Given the description of an element on the screen output the (x, y) to click on. 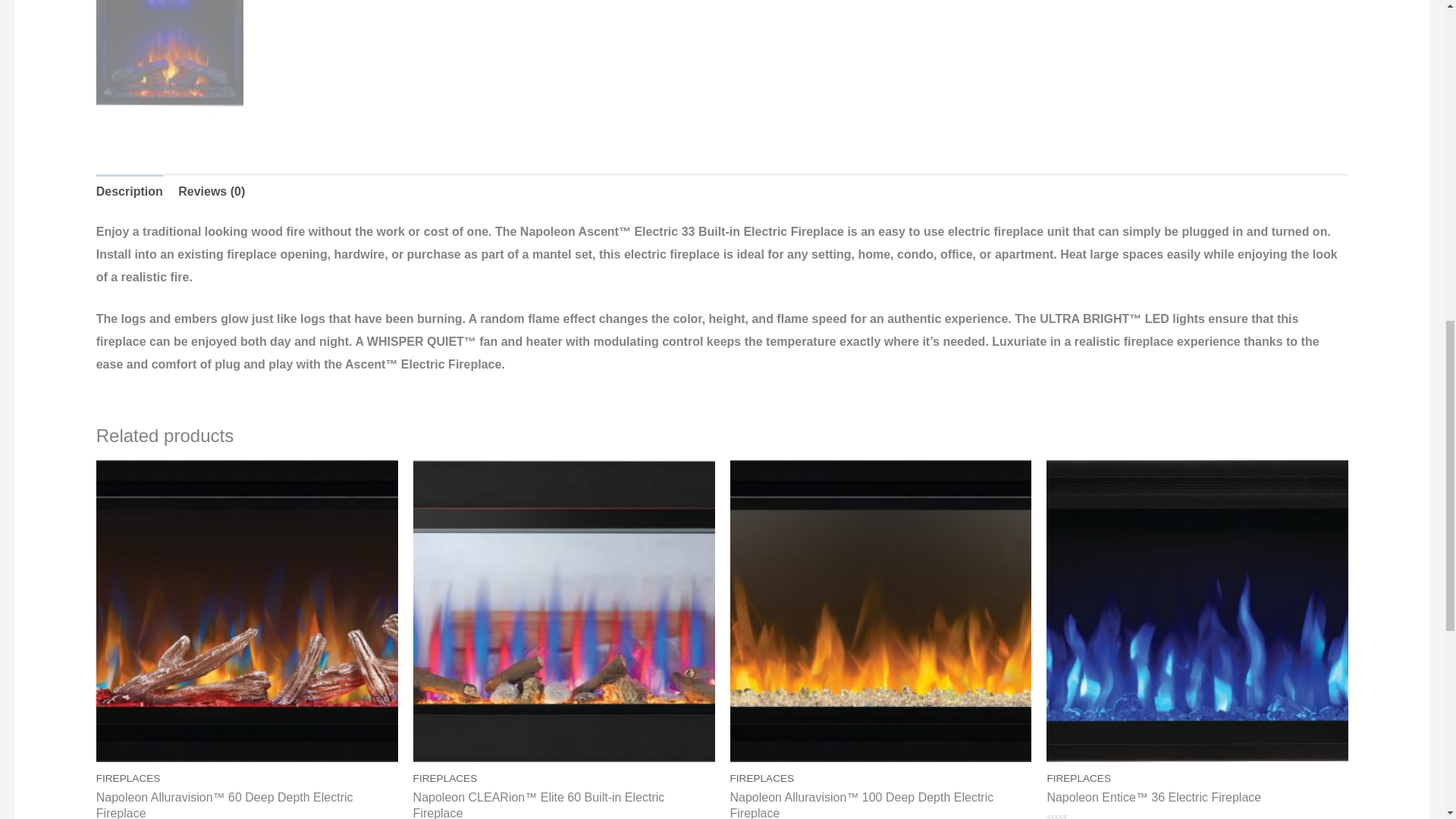
Description (129, 191)
